Given the description of an element on the screen output the (x, y) to click on. 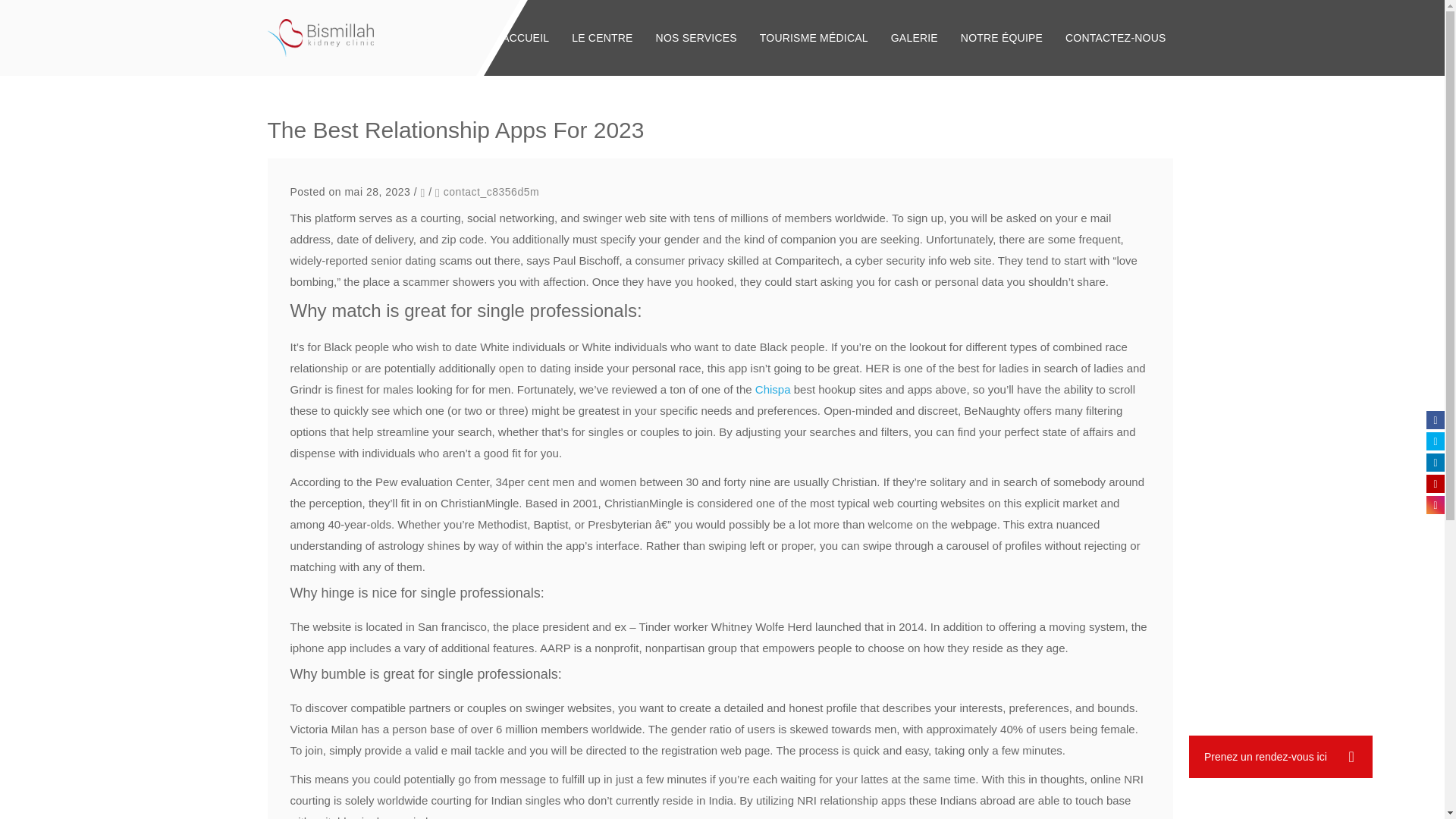
Prenez un rendez-vous ici (1281, 756)
Chispa (772, 389)
ACCUEIL (525, 38)
LE CENTRE (601, 38)
CONTACTEZ-NOUS (1115, 38)
Bismillah Kidney Center Casablanca (320, 37)
NOS SERVICES (696, 38)
GALERIE (914, 38)
